Given the description of an element on the screen output the (x, y) to click on. 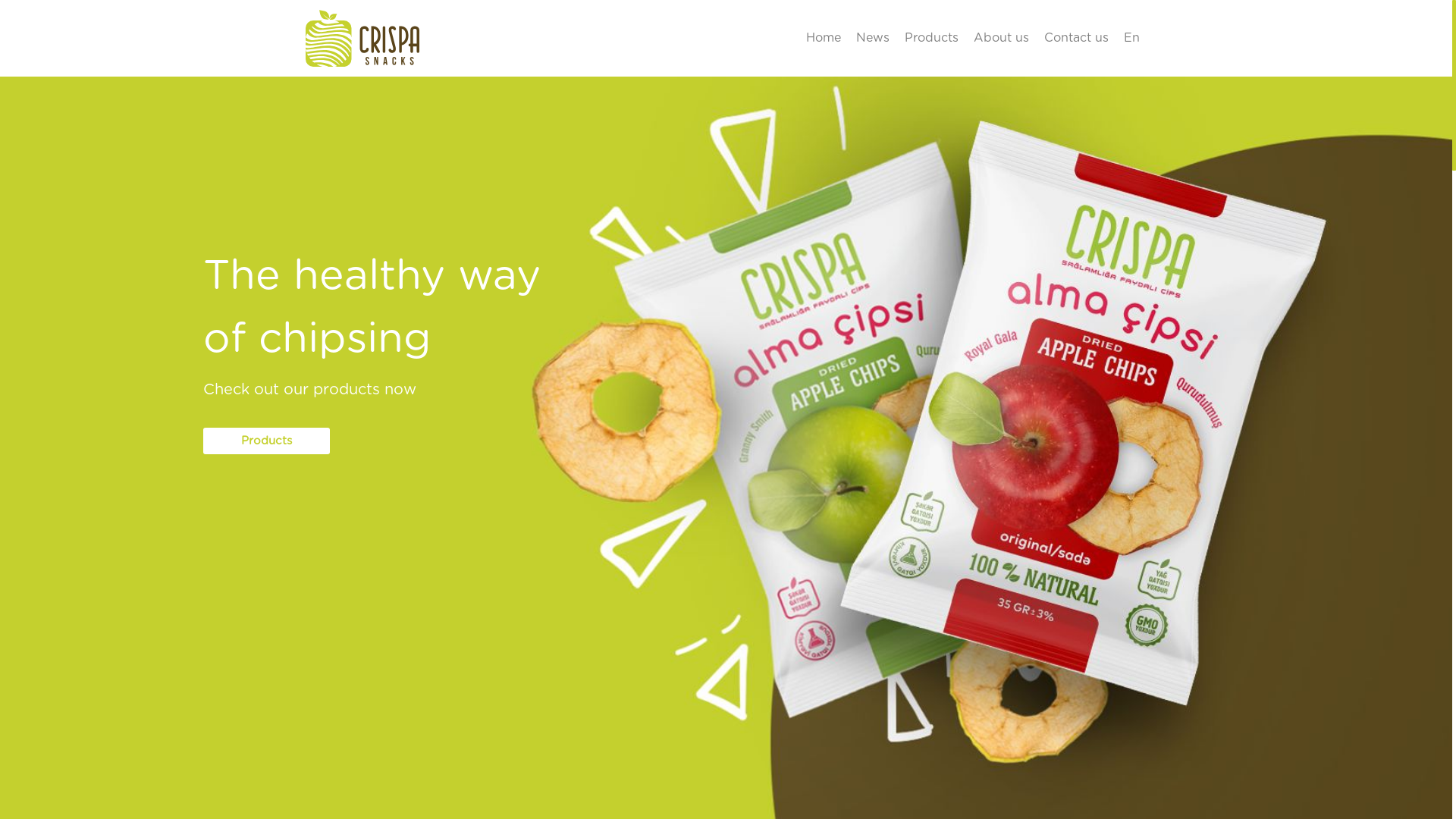
News Element type: text (871, 37)
En Element type: text (1131, 37)
Products Element type: text (930, 37)
Contact us Element type: text (1075, 37)
About us Element type: text (1001, 37)
Products Element type: text (266, 440)
Home Element type: text (822, 37)
